Given the description of an element on the screen output the (x, y) to click on. 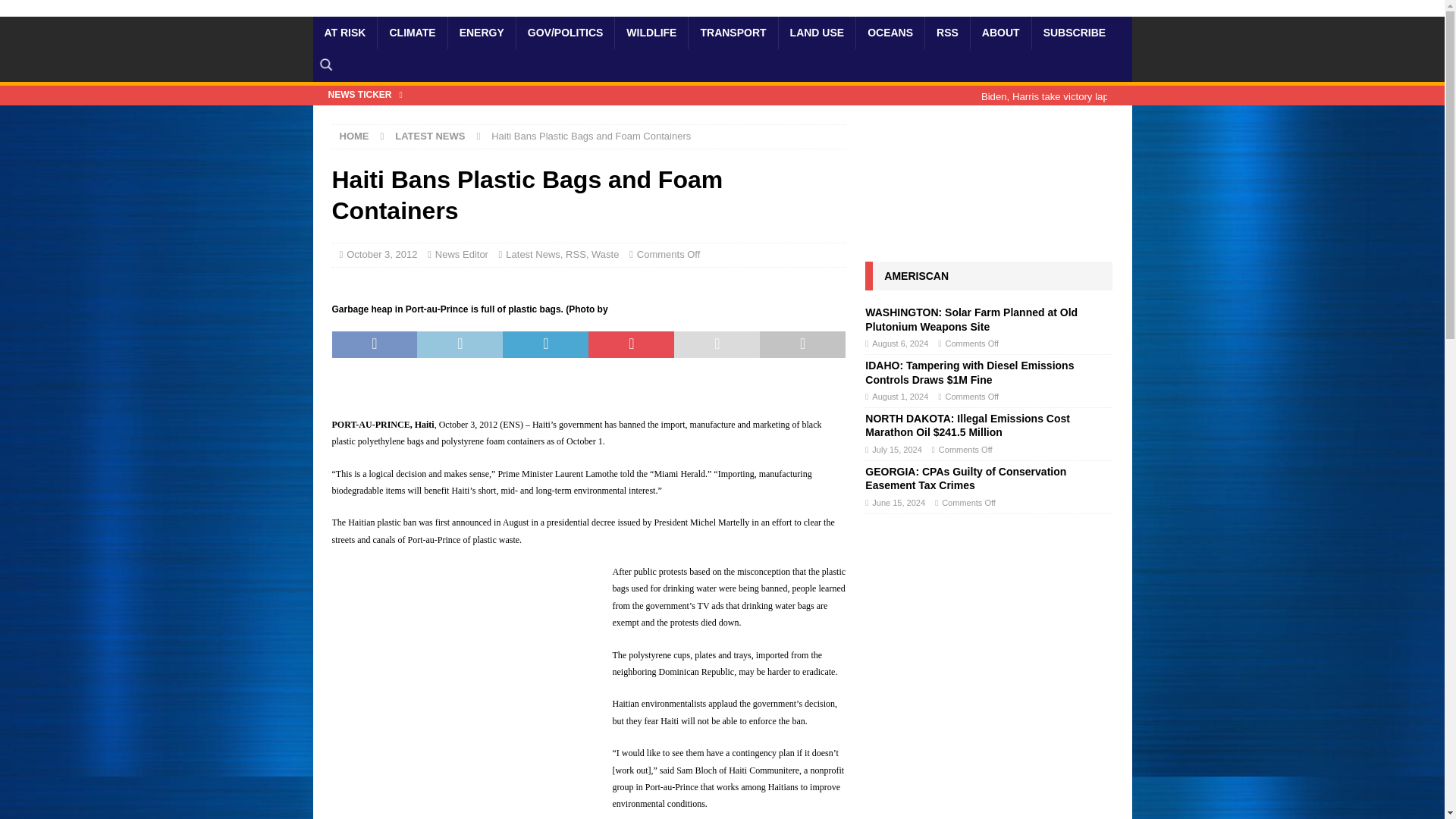
OCEANS (890, 32)
LATEST NEWS (429, 135)
October 3, 2012 (381, 254)
RSS (946, 32)
TRANSPORT (732, 32)
WILDLIFE (650, 32)
Search (56, 11)
AT RISK (345, 32)
HOME (354, 135)
SUBSCRIBE (1073, 32)
